Given the description of an element on the screen output the (x, y) to click on. 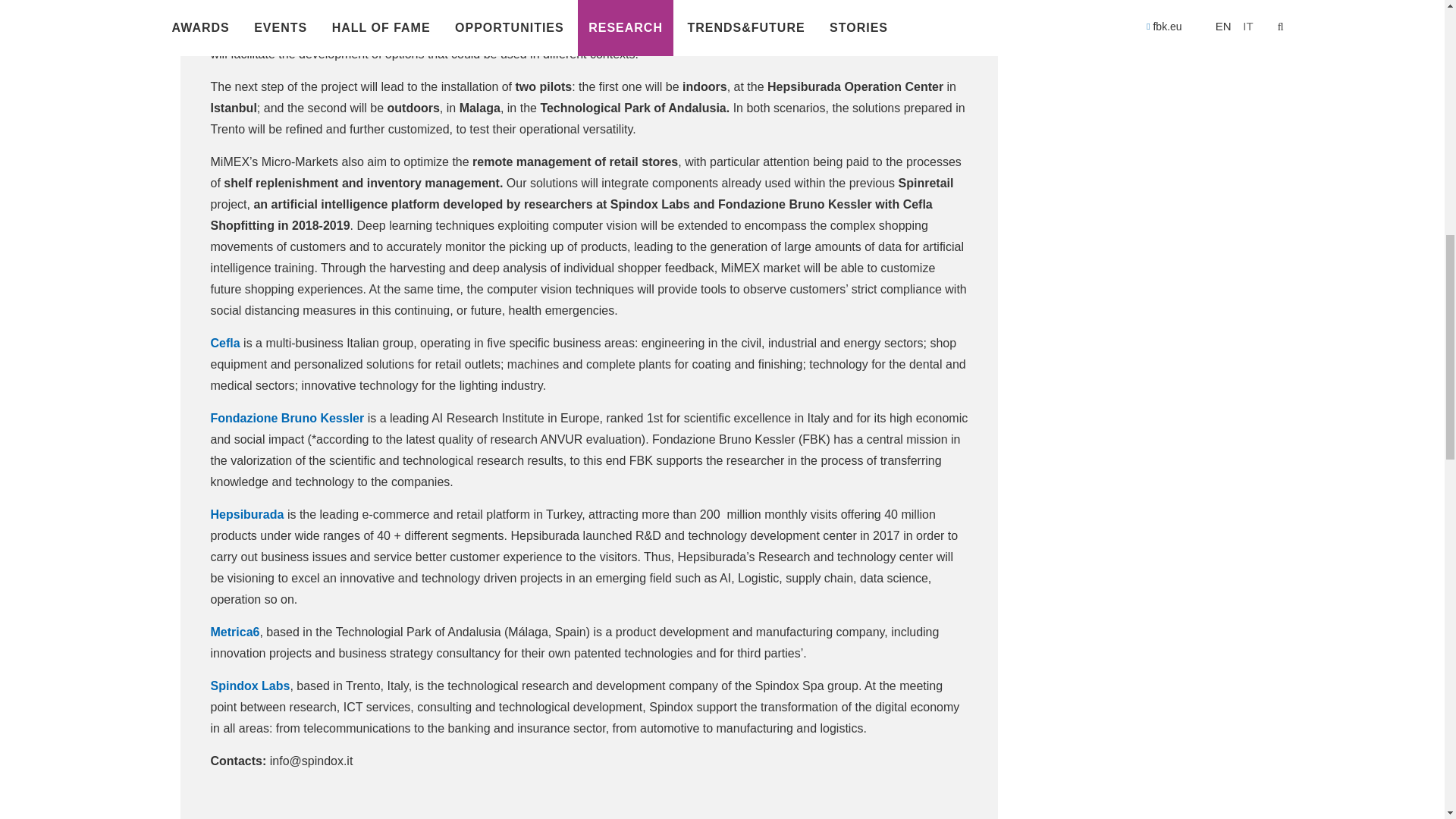
Spindox Labs (250, 685)
Fondazione Bruno Kessler (288, 418)
Cefla (225, 342)
Hepsiburada (248, 513)
Metrica6 (235, 631)
